Given the description of an element on the screen output the (x, y) to click on. 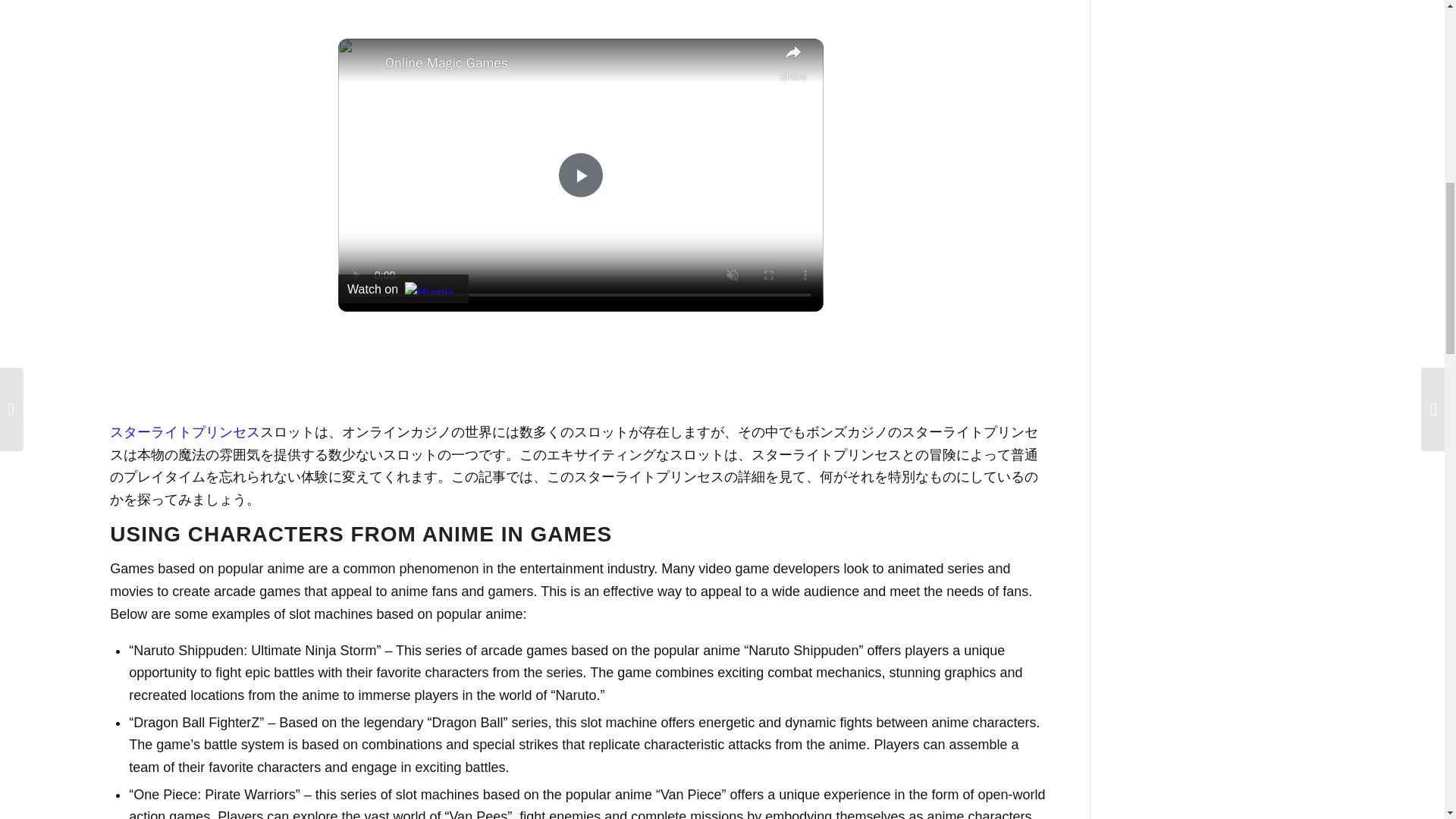
Play Video (580, 175)
Online Magic Games (578, 63)
Watch on (402, 288)
Play Video (580, 175)
